Given the description of an element on the screen output the (x, y) to click on. 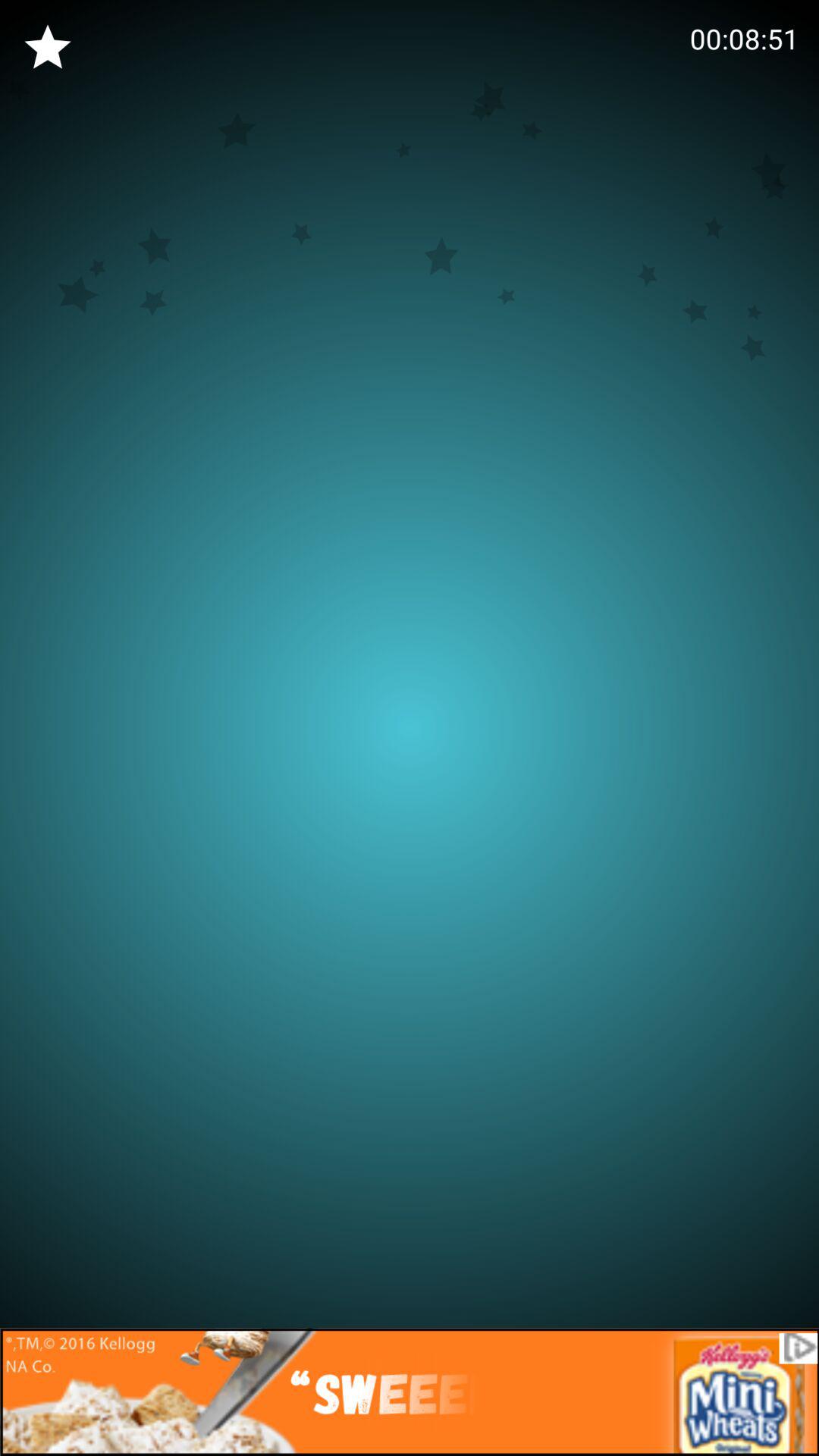
favourites (47, 47)
